Given the description of an element on the screen output the (x, y) to click on. 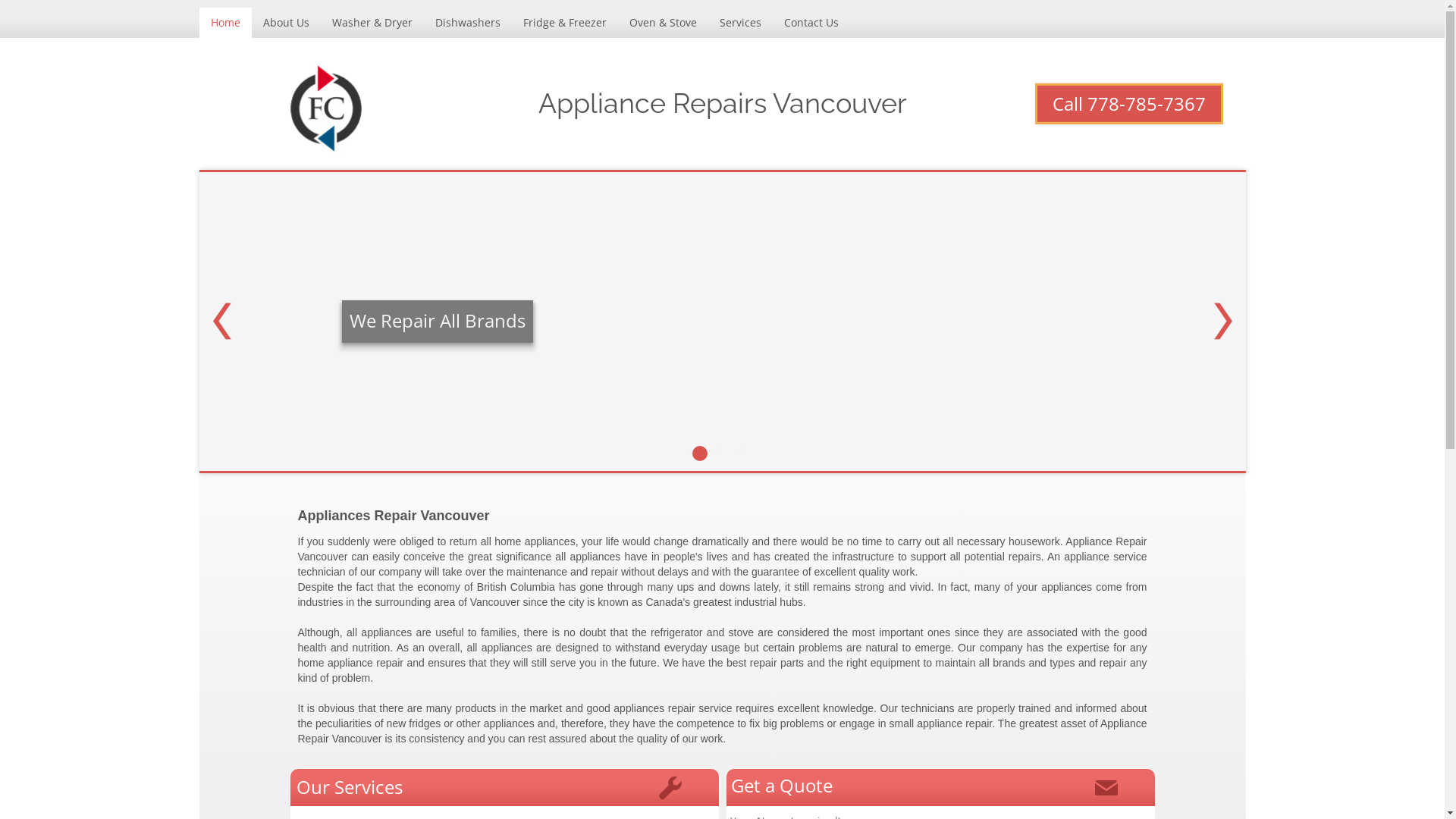
Dishwashers Element type: text (467, 22)
Services Element type: text (740, 22)
Fridge & Freezer Element type: text (564, 22)
Home Element type: text (224, 22)
About Us Element type: text (285, 22)
Contact Us Element type: text (810, 22)
Call 778-785-7367 Element type: text (1128, 103)
Washer & Dryer Element type: text (371, 22)
Oven & Stove Element type: text (662, 22)
